Given the description of an element on the screen output the (x, y) to click on. 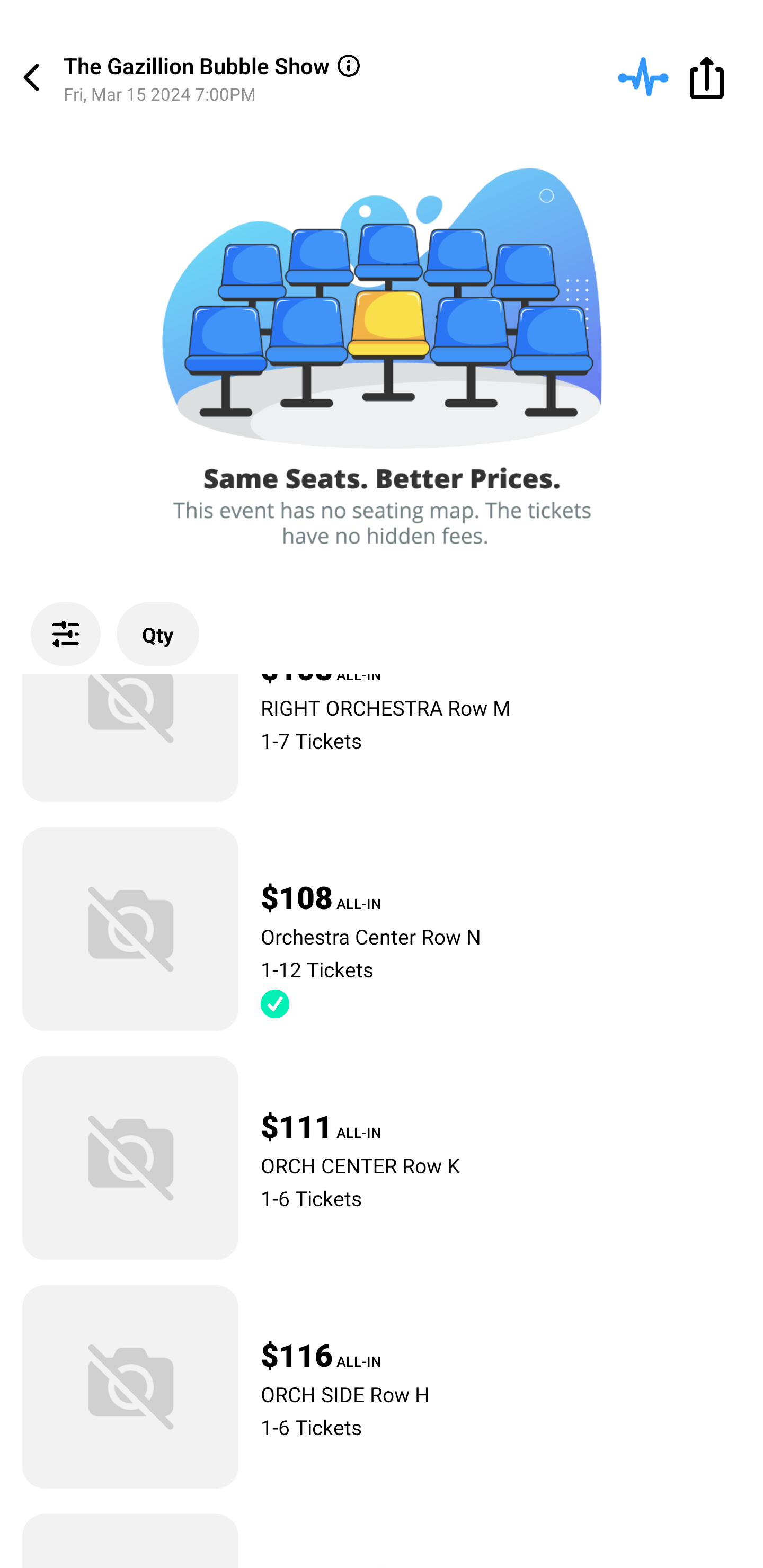
Qty (157, 634)
